Given the description of an element on the screen output the (x, y) to click on. 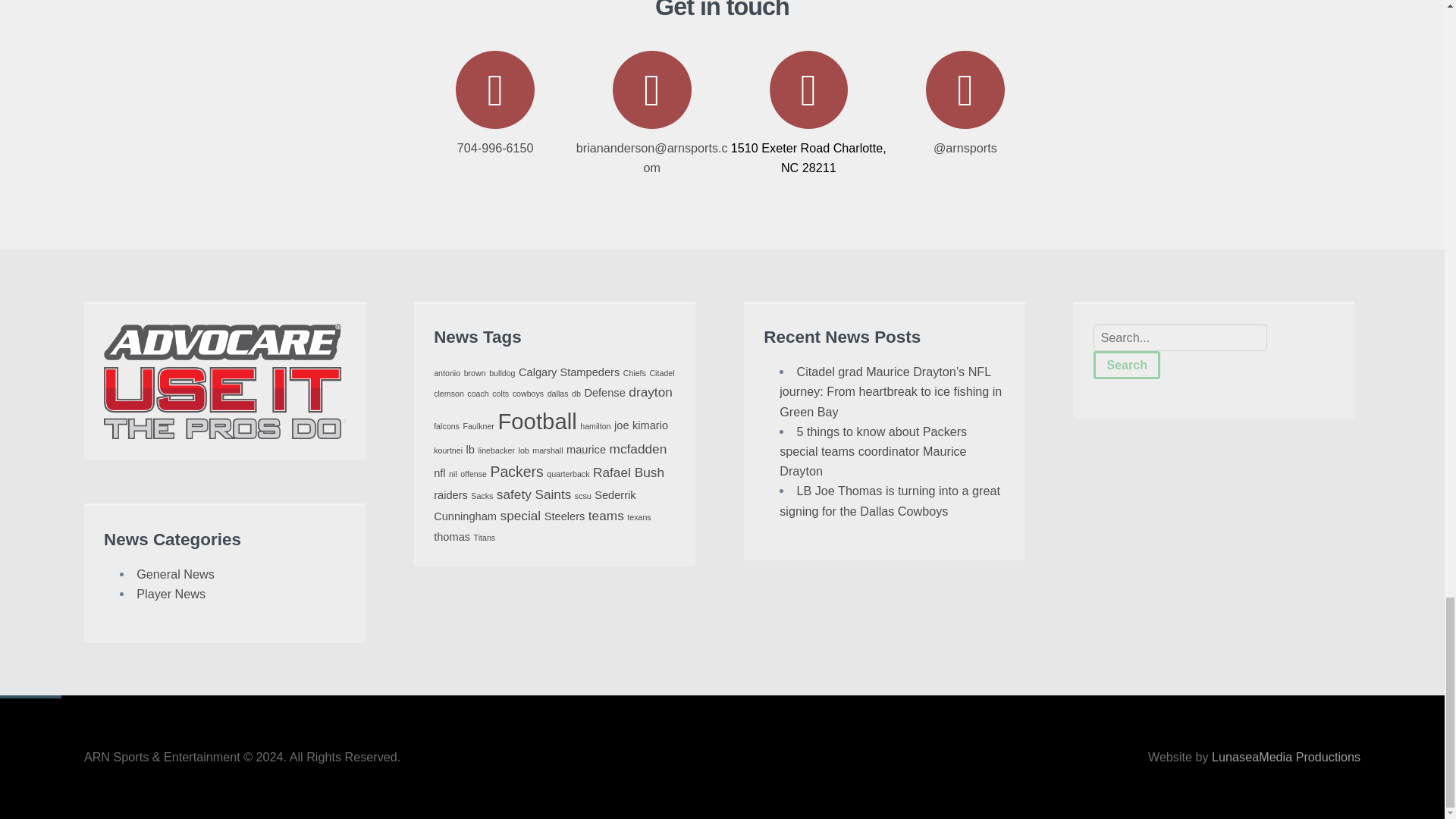
Search (1126, 364)
Search (1126, 364)
704-996-6150 (494, 102)
